Given the description of an element on the screen output the (x, y) to click on. 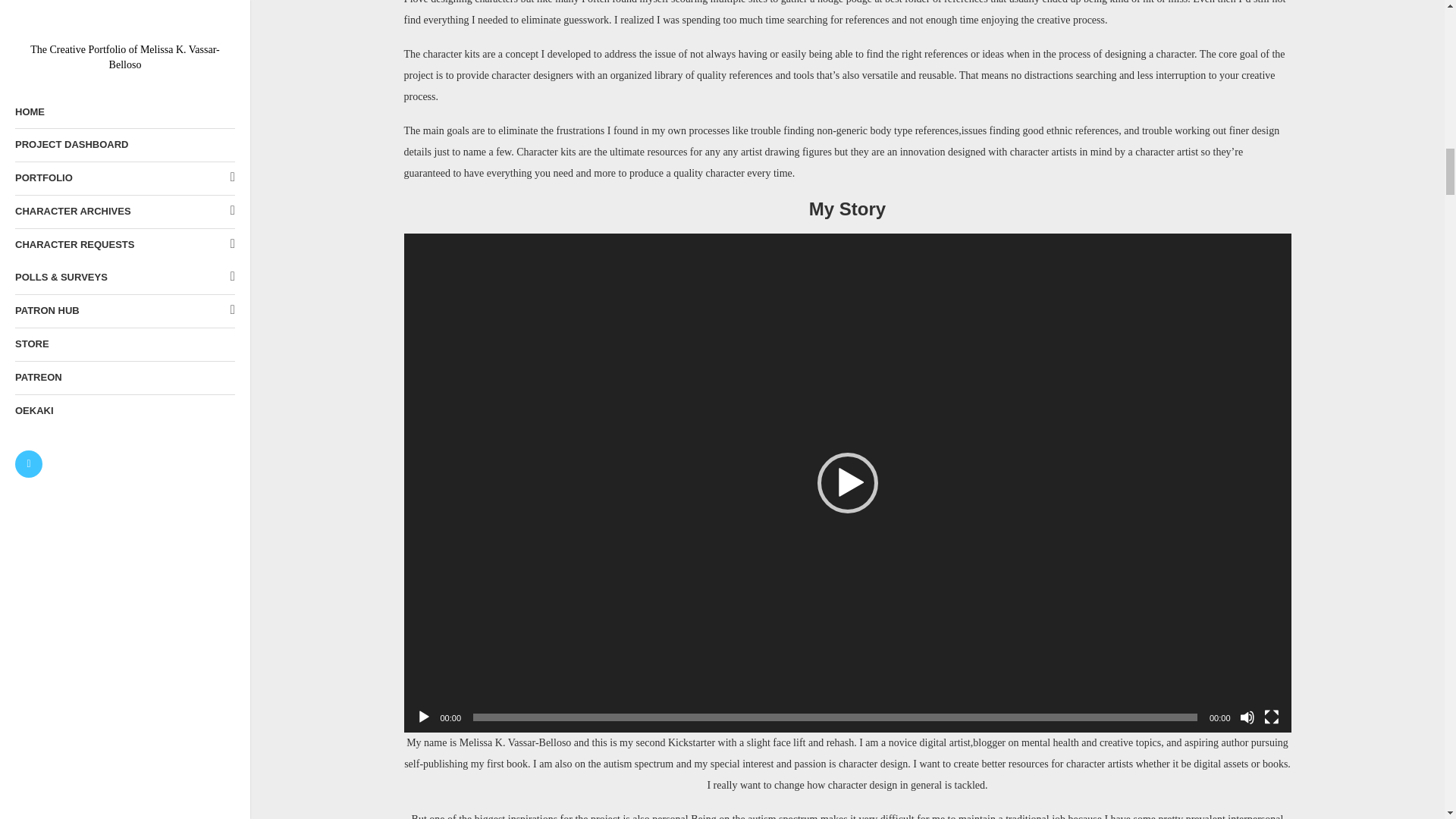
Fullscreen (1270, 717)
Play (422, 717)
Mute (1246, 717)
